Given the description of an element on the screen output the (x, y) to click on. 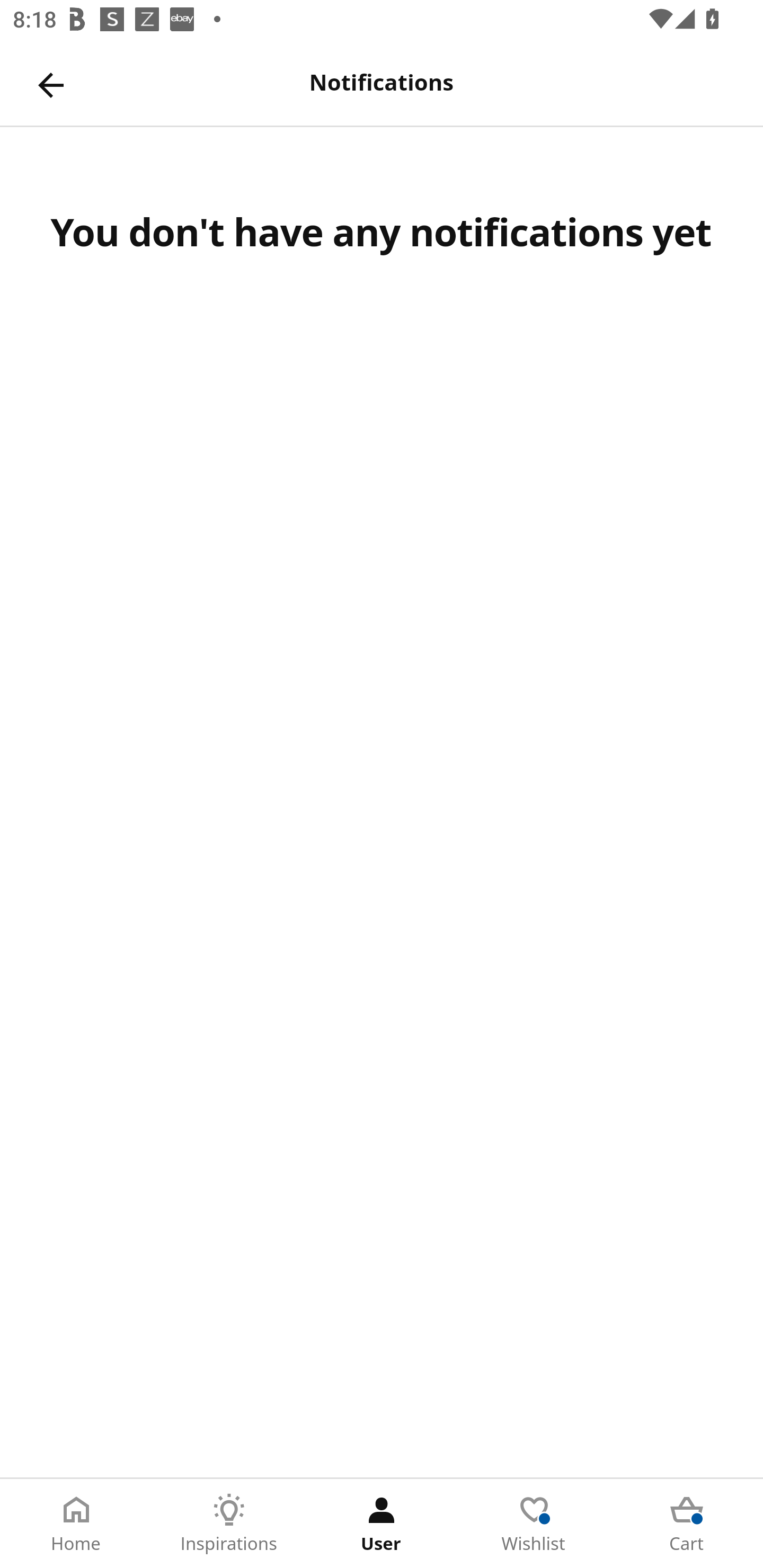
Home
Tab 1 of 5 (76, 1522)
Inspirations
Tab 2 of 5 (228, 1522)
User
Tab 3 of 5 (381, 1522)
Wishlist
Tab 4 of 5 (533, 1522)
Cart
Tab 5 of 5 (686, 1522)
